Given the description of an element on the screen output the (x, y) to click on. 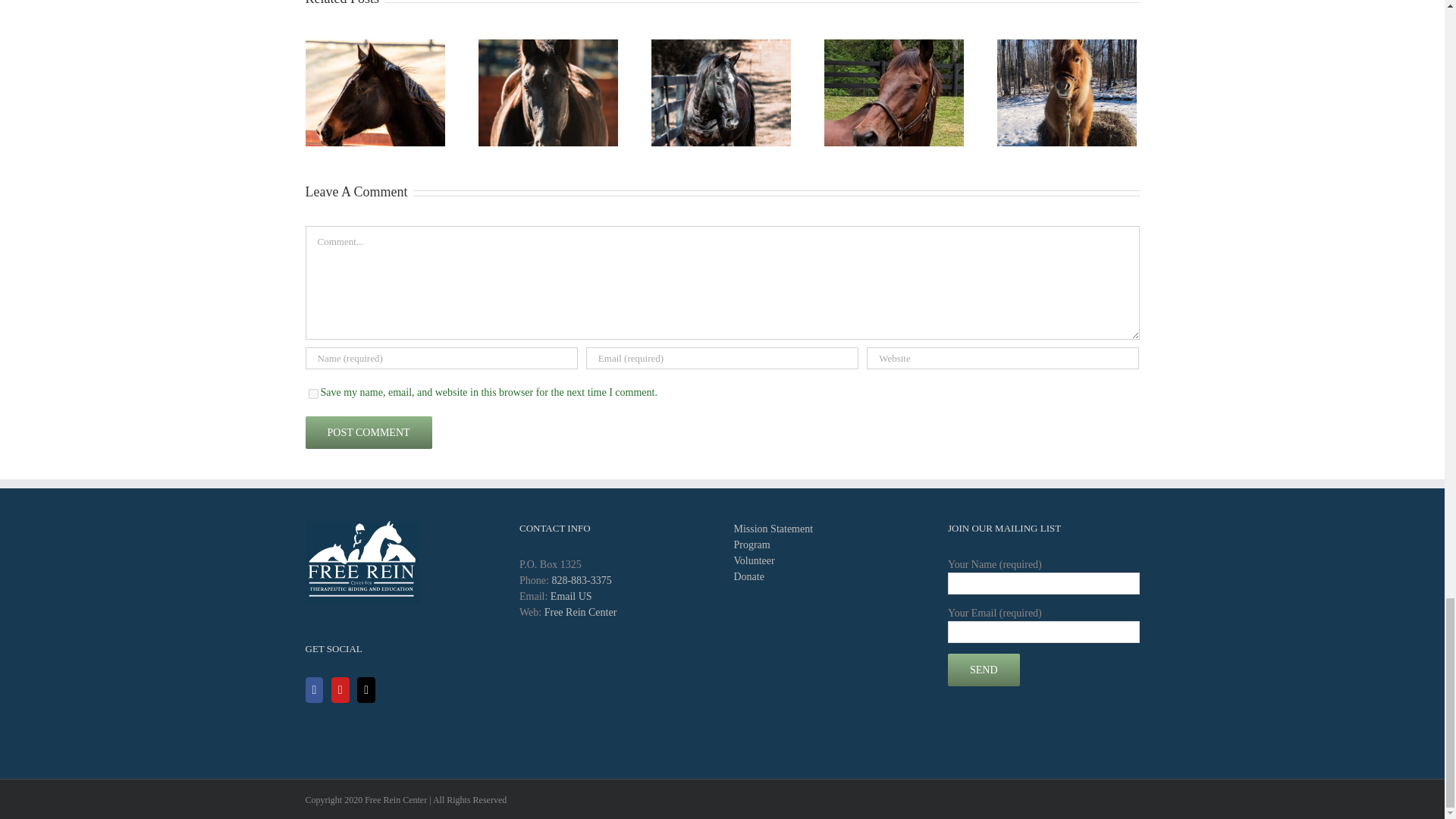
Send (983, 669)
yes (312, 393)
Post Comment (367, 432)
